Given the description of an element on the screen output the (x, y) to click on. 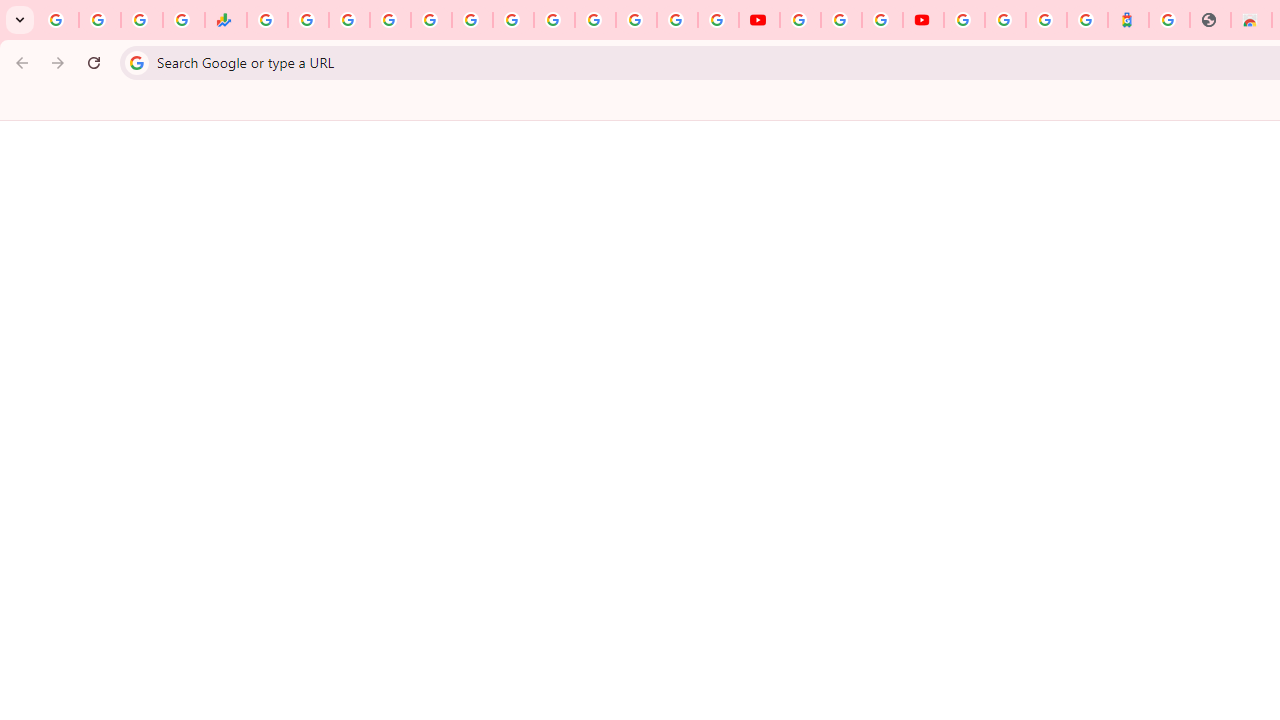
YouTube (799, 20)
Sign in - Google Accounts (676, 20)
Content Creator Programs & Opportunities - YouTube Creators (923, 20)
Google Account Help (840, 20)
Atour Hotel - Google hotels (1128, 20)
Sign in - Google Accounts (1005, 20)
Android TV Policies and Guidelines - Transparency Center (512, 20)
Google Workspace Admin Community (58, 20)
